Given the description of an element on the screen output the (x, y) to click on. 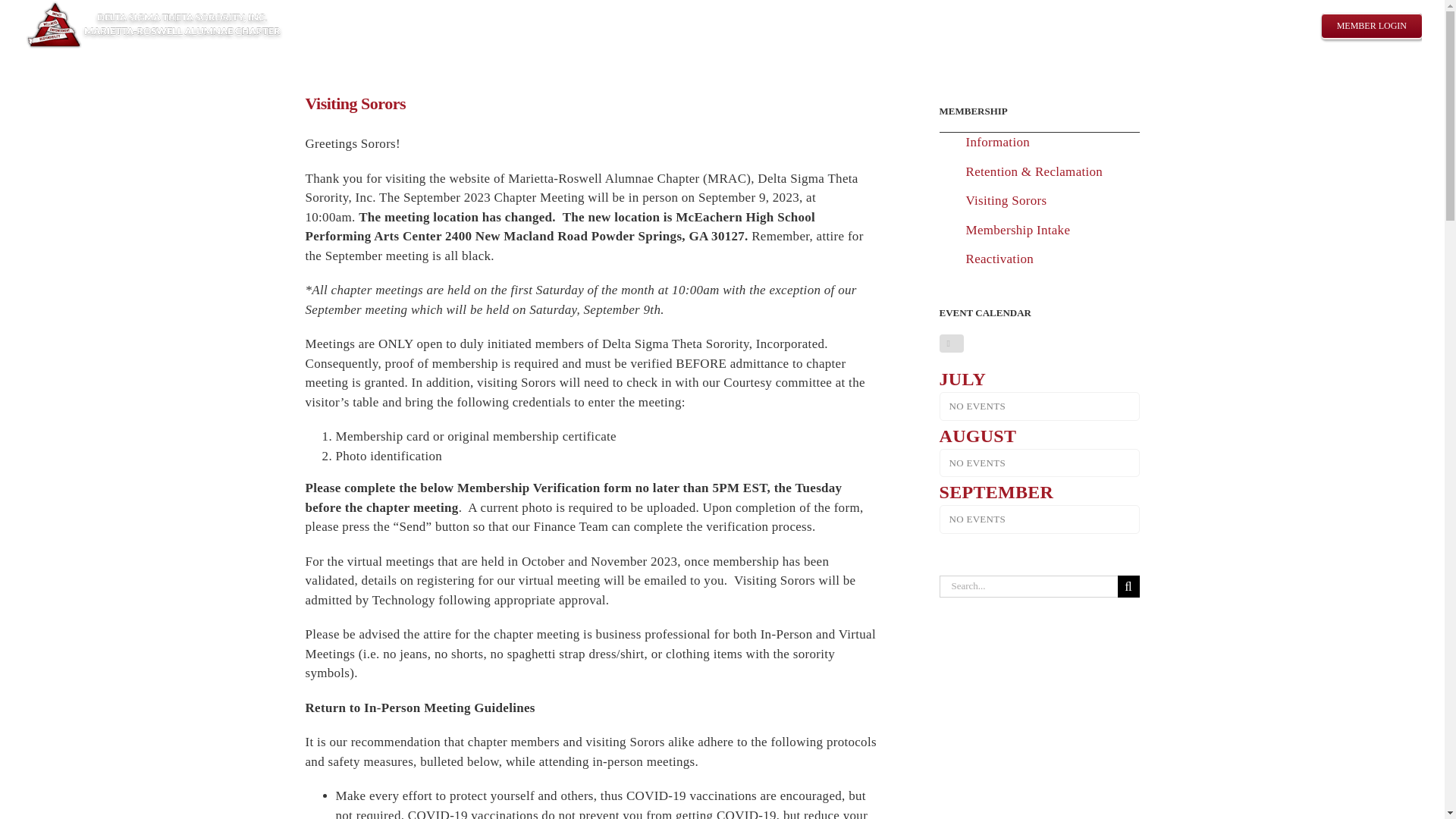
Leadership (1017, 24)
Membership (1168, 24)
Who We Are (935, 24)
Home (868, 24)
Event Calendar (1262, 24)
MEMBER LOGIN (1372, 24)
Programs (1090, 24)
